Given the description of an element on the screen output the (x, y) to click on. 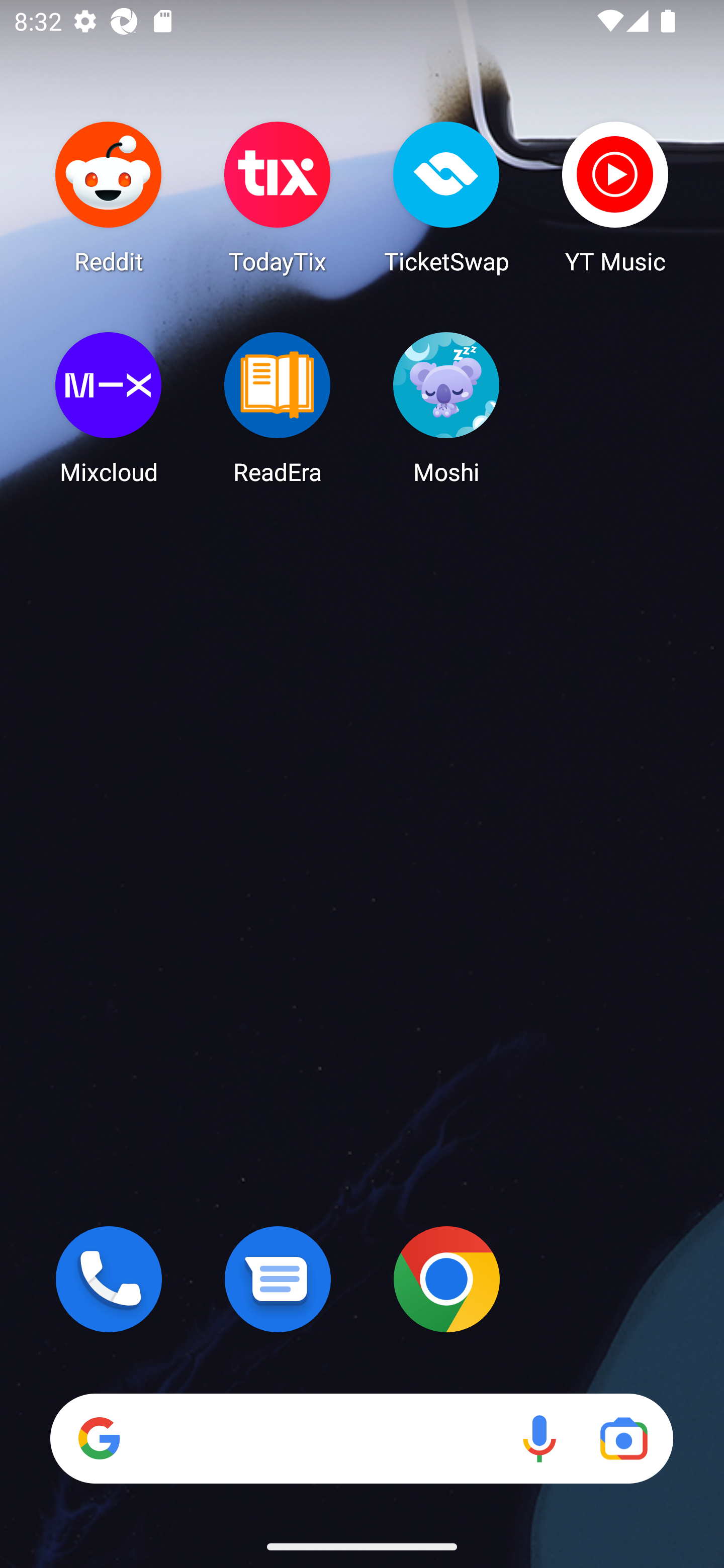
Reddit (108, 196)
TodayTix (277, 196)
TicketSwap (445, 196)
YT Music (615, 196)
Mixcloud (108, 407)
ReadEra (277, 407)
Moshi (445, 407)
Phone (108, 1279)
Messages (277, 1279)
Chrome (446, 1279)
Voice search (539, 1438)
Google Lens (623, 1438)
